Given the description of an element on the screen output the (x, y) to click on. 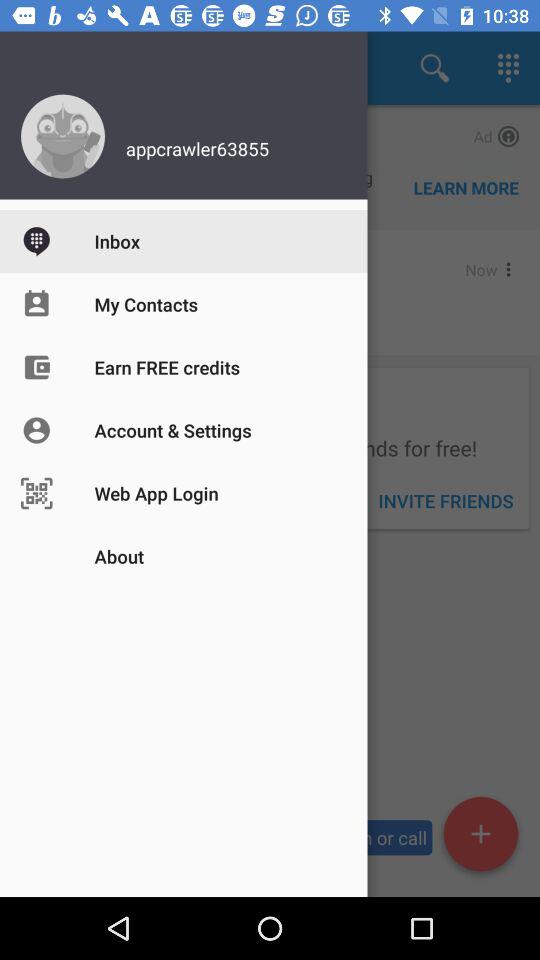
click on the learn more option (466, 187)
select the username above inbox (284, 144)
select search icon which is at the top of the screen (434, 68)
